Given the description of an element on the screen output the (x, y) to click on. 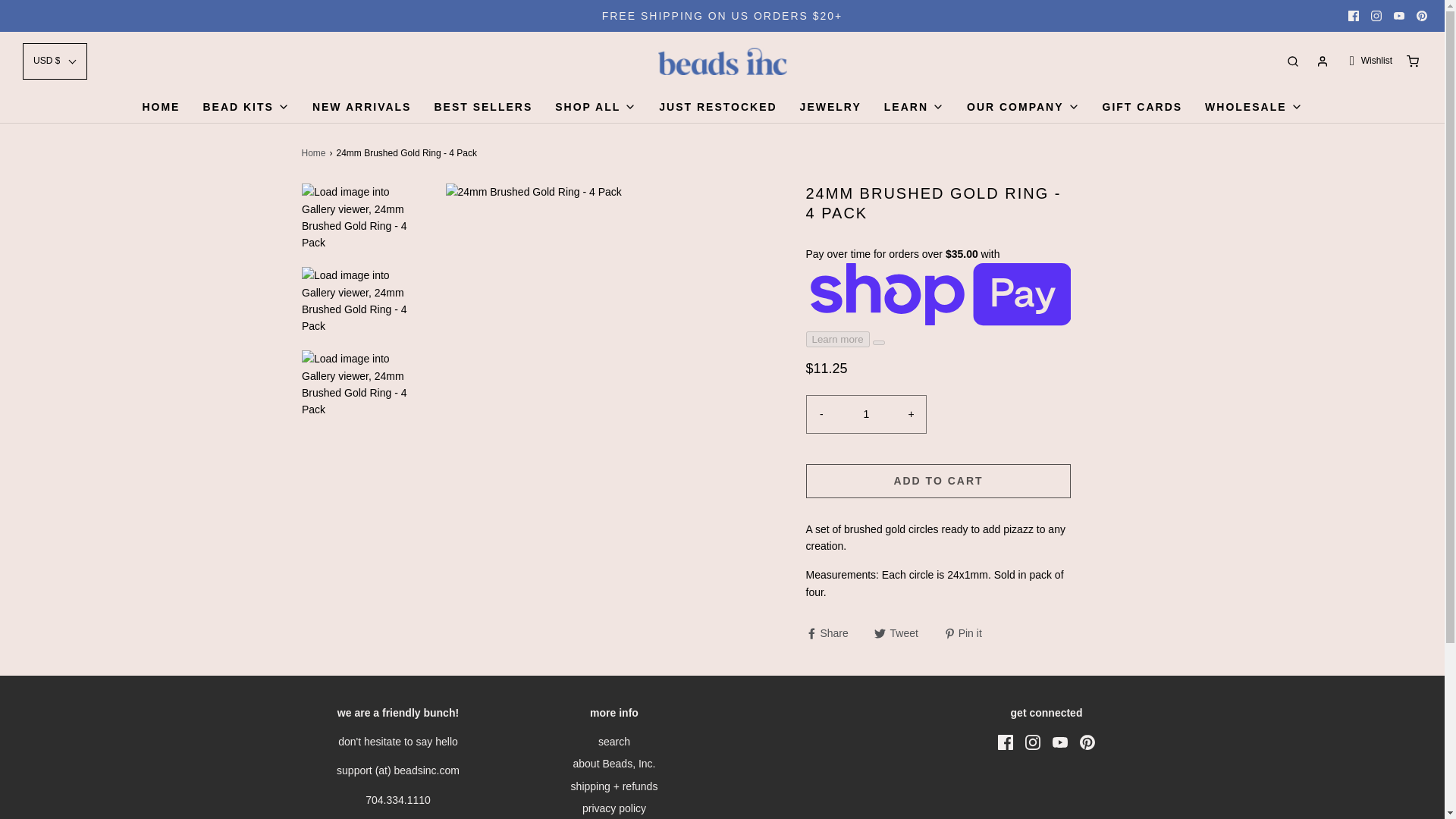
NEW ARRIVALS (362, 106)
Back to the frontpage (315, 153)
Cart (1412, 61)
YOUTUBE ICON (1399, 15)
PINTEREST ICON (1421, 15)
Instagram icon (1033, 742)
FACEBOOK ICON (1353, 15)
BEAD KITS (245, 106)
Log in (1322, 61)
INSTAGRAM ICON (1376, 15)
FACEBOOK ICON (1353, 15)
SHOP ALL (595, 106)
1 (865, 413)
BEST SELLERS (482, 106)
HOME (160, 106)
